Given the description of an element on the screen output the (x, y) to click on. 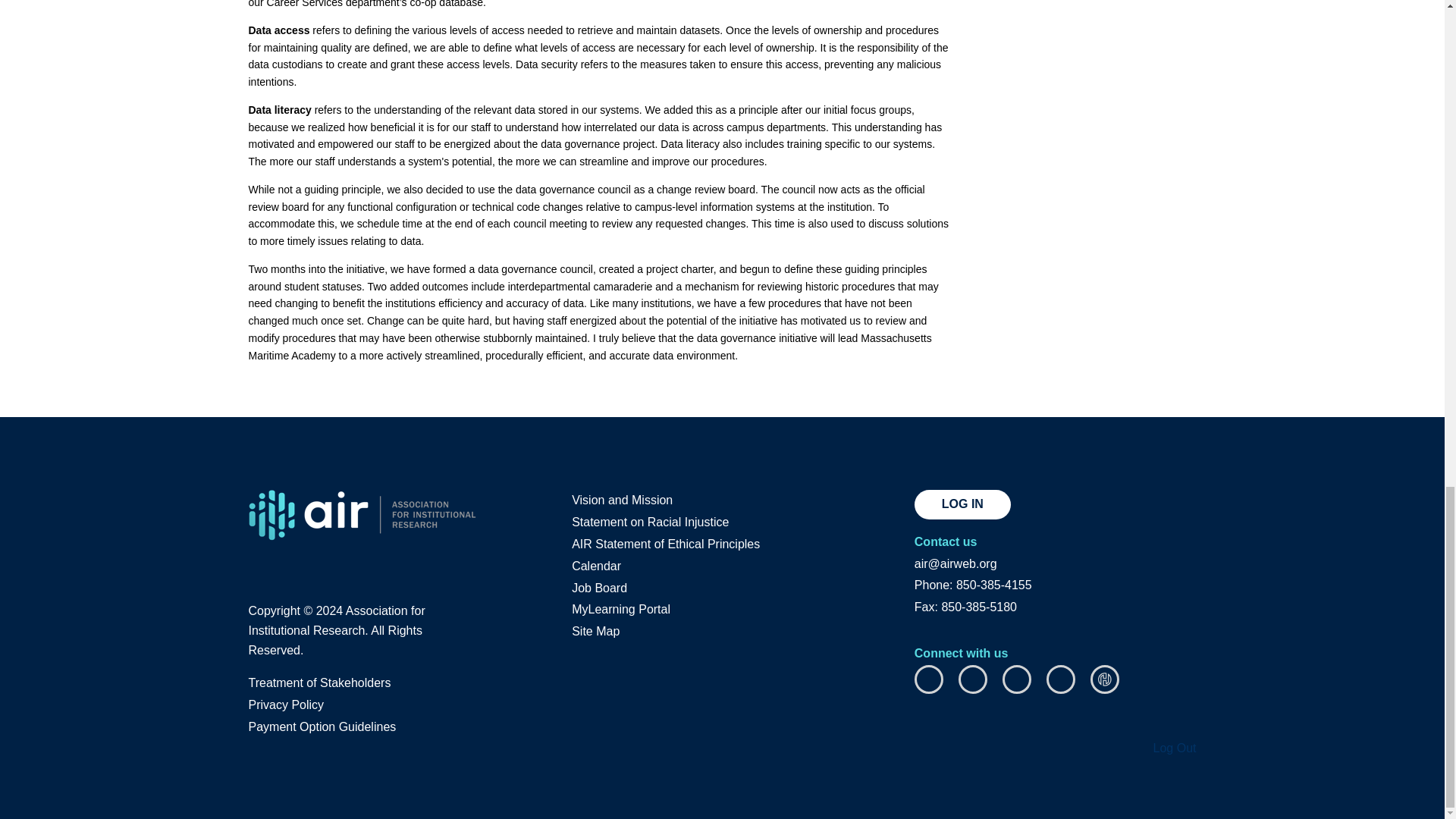
Association for Institutional Research (362, 514)
